Given the description of an element on the screen output the (x, y) to click on. 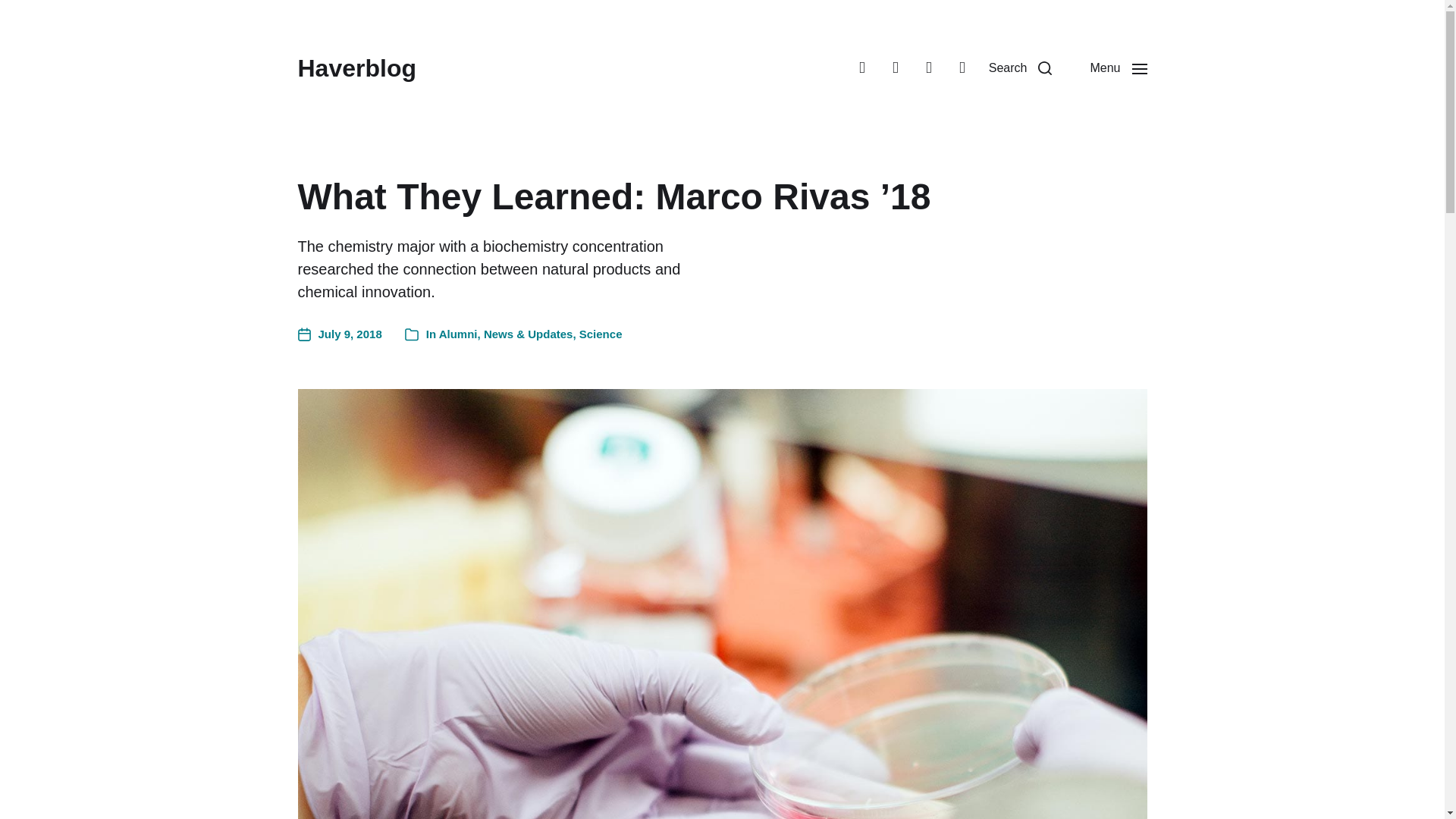
Search (1020, 68)
Science (601, 333)
Menu (1118, 68)
Haverblog (355, 68)
Alumni (458, 333)
July 9, 2018 (339, 334)
